Given the description of an element on the screen output the (x, y) to click on. 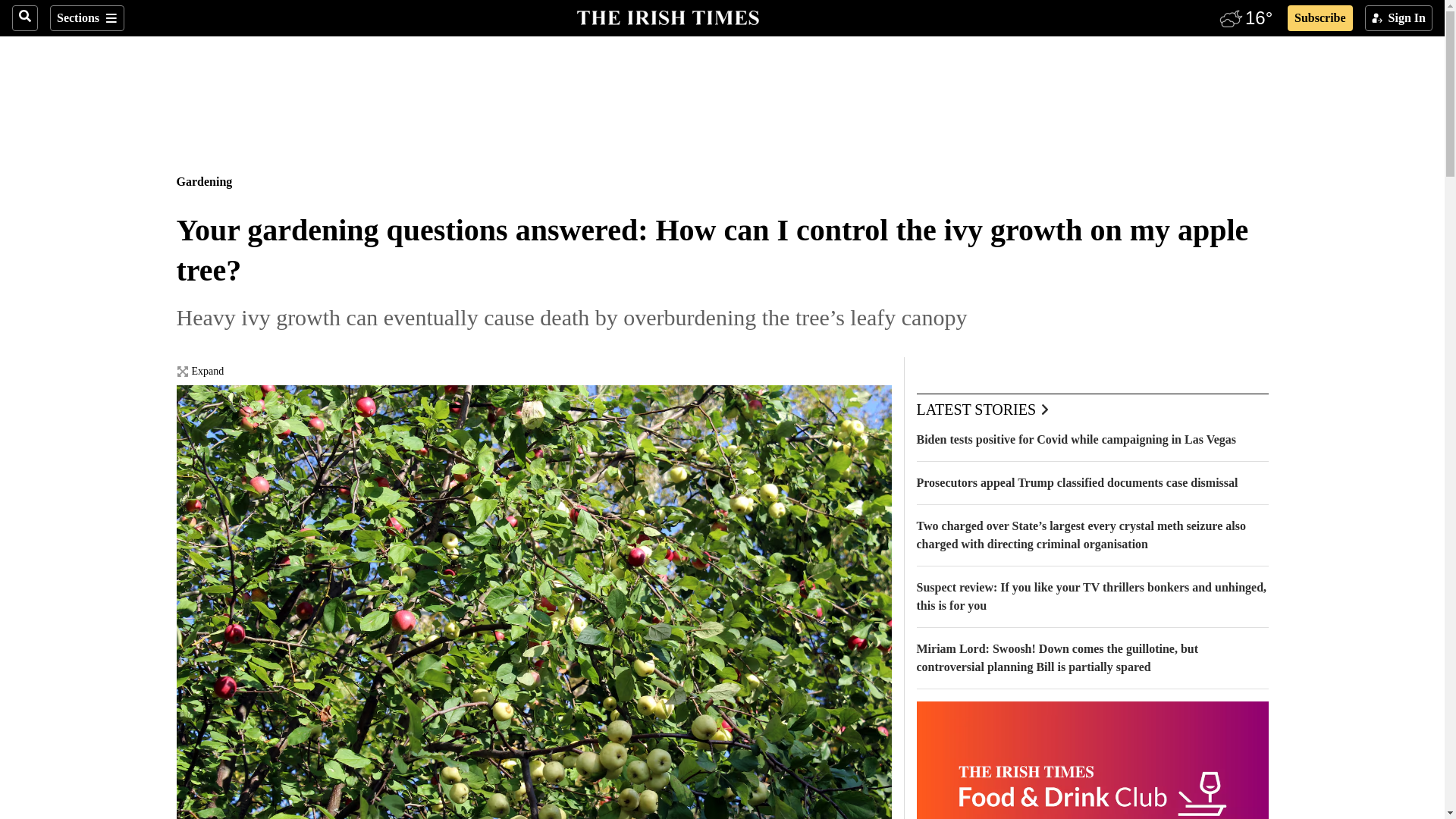
Sign In (1398, 17)
The Irish Times (667, 16)
Subscribe (1319, 17)
Sections (86, 17)
